Given the description of an element on the screen output the (x, y) to click on. 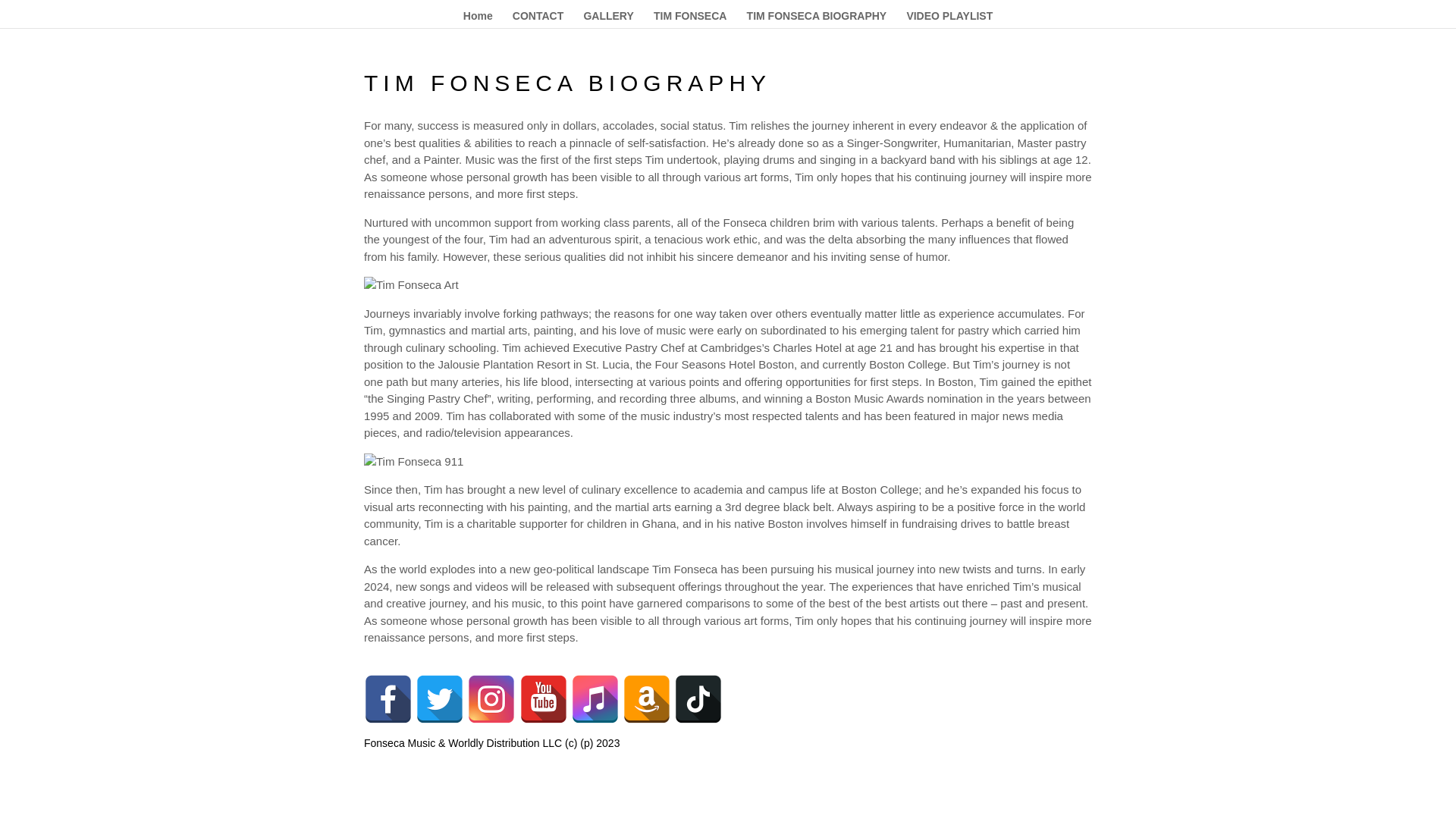
Facebook (388, 698)
TikTok (698, 698)
YouTube (543, 698)
VIDEO PLAYLIST (948, 18)
TIM FONSECA BIOGRAPHY (816, 18)
Amazon (647, 698)
TIM FONSECA (689, 18)
CONTACT (537, 18)
Home (478, 18)
Apple Music (595, 698)
